Given the description of an element on the screen output the (x, y) to click on. 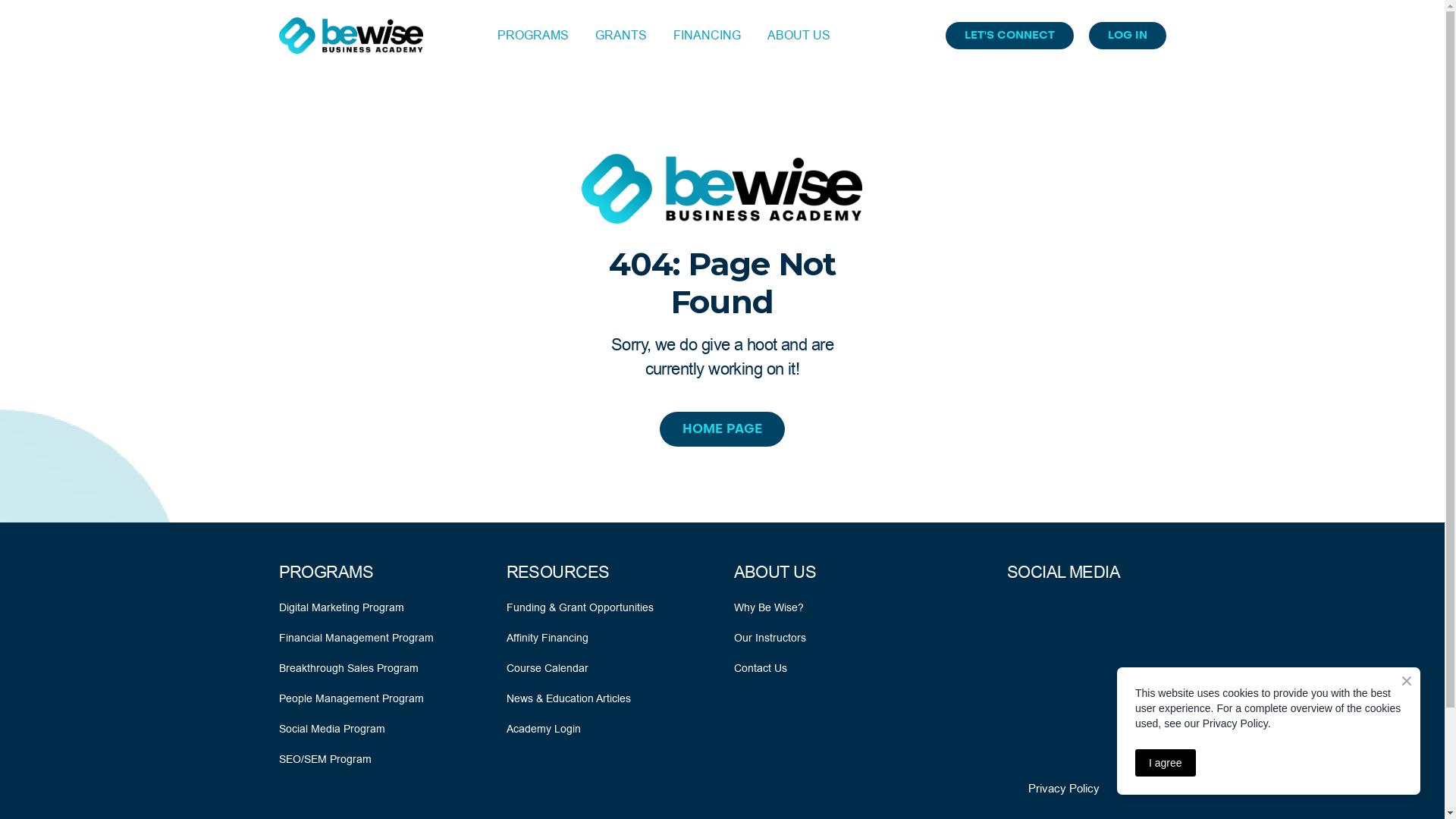
LET'S CONNECT Element type: text (1008, 35)
ABOUT US Element type: text (798, 34)
SEO/SEM Program Element type: text (325, 758)
Why Be Wise? Element type: text (768, 607)
FINANCING Element type: text (706, 34)
HOME PAGE Element type: text (721, 428)
Affinity Financing Element type: text (547, 637)
PROGRAMS Element type: text (532, 34)
GRANTS Element type: text (620, 34)
News & Education Articles Element type: text (568, 698)
Financial Management Program Element type: text (356, 637)
Course Calendar Element type: text (547, 667)
LOG IN Element type: text (1127, 35)
Contact Us Element type: text (760, 667)
Privacy Policy Element type: text (1063, 788)
People Management Program Element type: text (351, 698)
Our Instructors Element type: text (770, 637)
I agree Element type: text (1165, 762)
Social Media Program Element type: text (332, 728)
Academy Login Element type: text (543, 728)
Breakthrough Sales Program Element type: text (348, 667)
Digital Marketing Program Element type: text (341, 607)
Funding & Grant Opportunities Element type: text (579, 607)
